Given the description of an element on the screen output the (x, y) to click on. 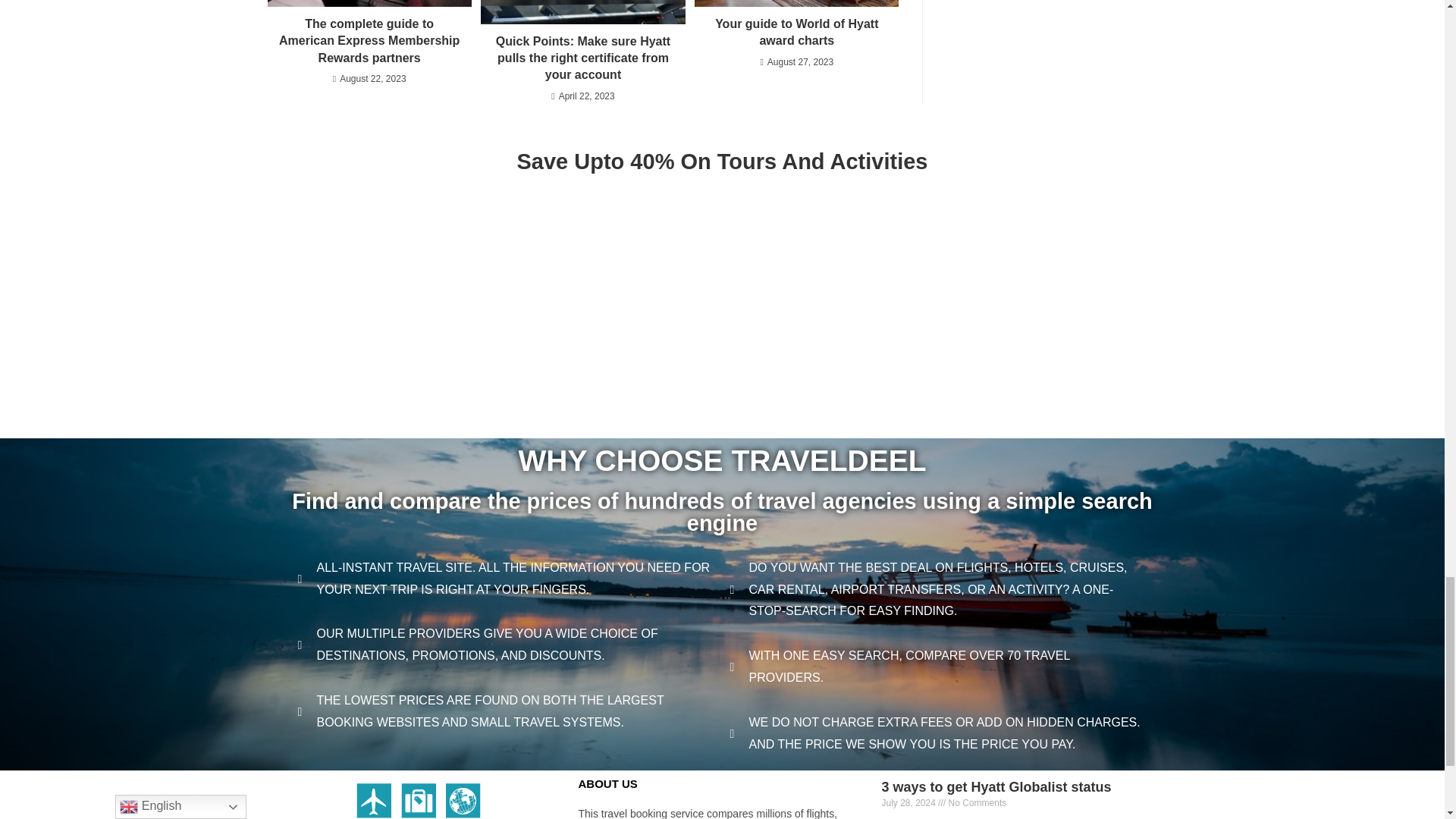
GetYourGuide Widget (722, 245)
GetYourGuide Widget (722, 373)
